Given the description of an element on the screen output the (x, y) to click on. 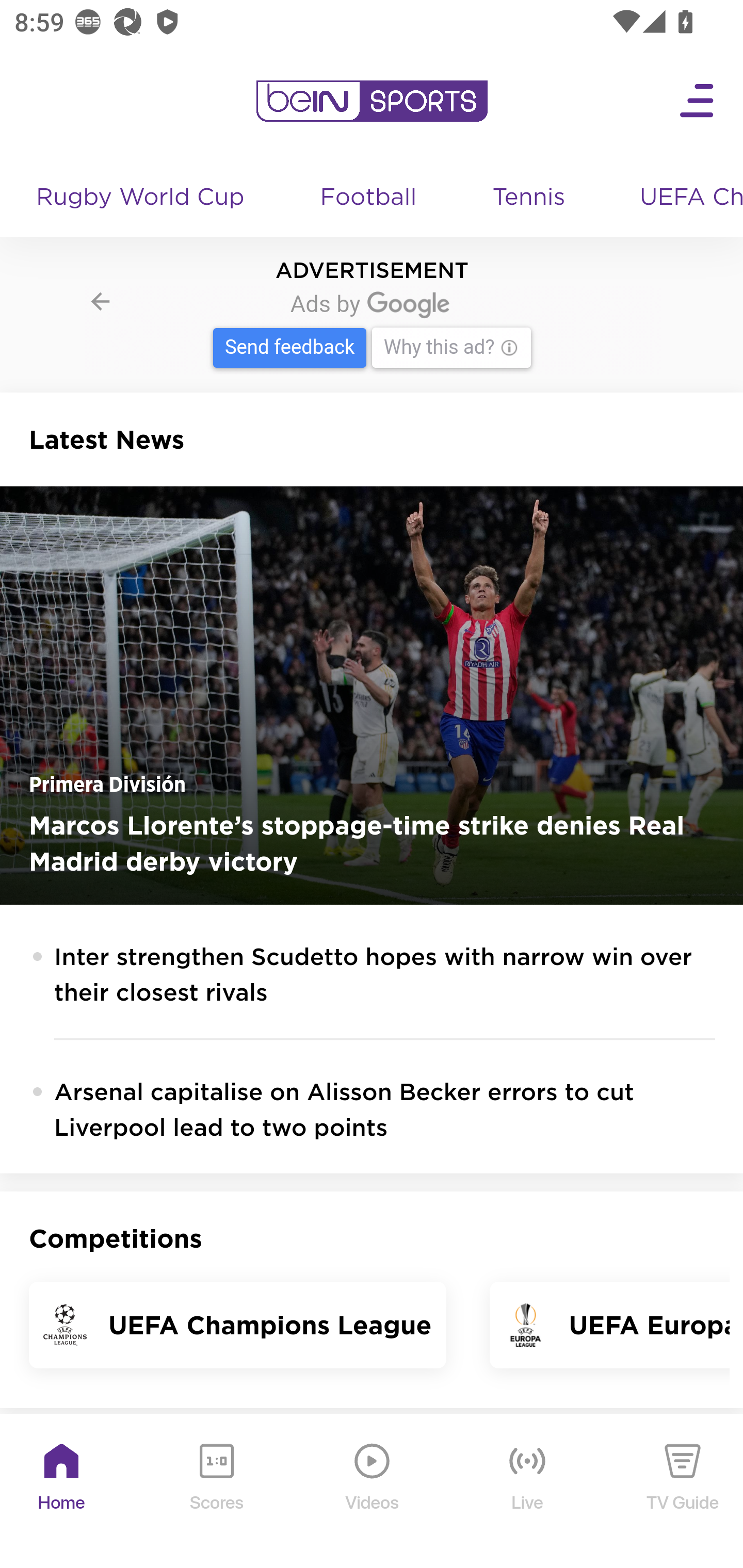
en-my?platform=mobile_android bein logo (371, 101)
Open Menu Icon (697, 101)
Rugby World Cup (142, 198)
Football (369, 198)
Tennis (530, 198)
UEFA Champions League (683, 198)
l8psv8uu (372, 328)
Home Home Icon Home (61, 1491)
Scores Scores Icon Scores (216, 1491)
Videos Videos Icon Videos (372, 1491)
TV Guide TV Guide Icon TV Guide (682, 1491)
